Given the description of an element on the screen output the (x, y) to click on. 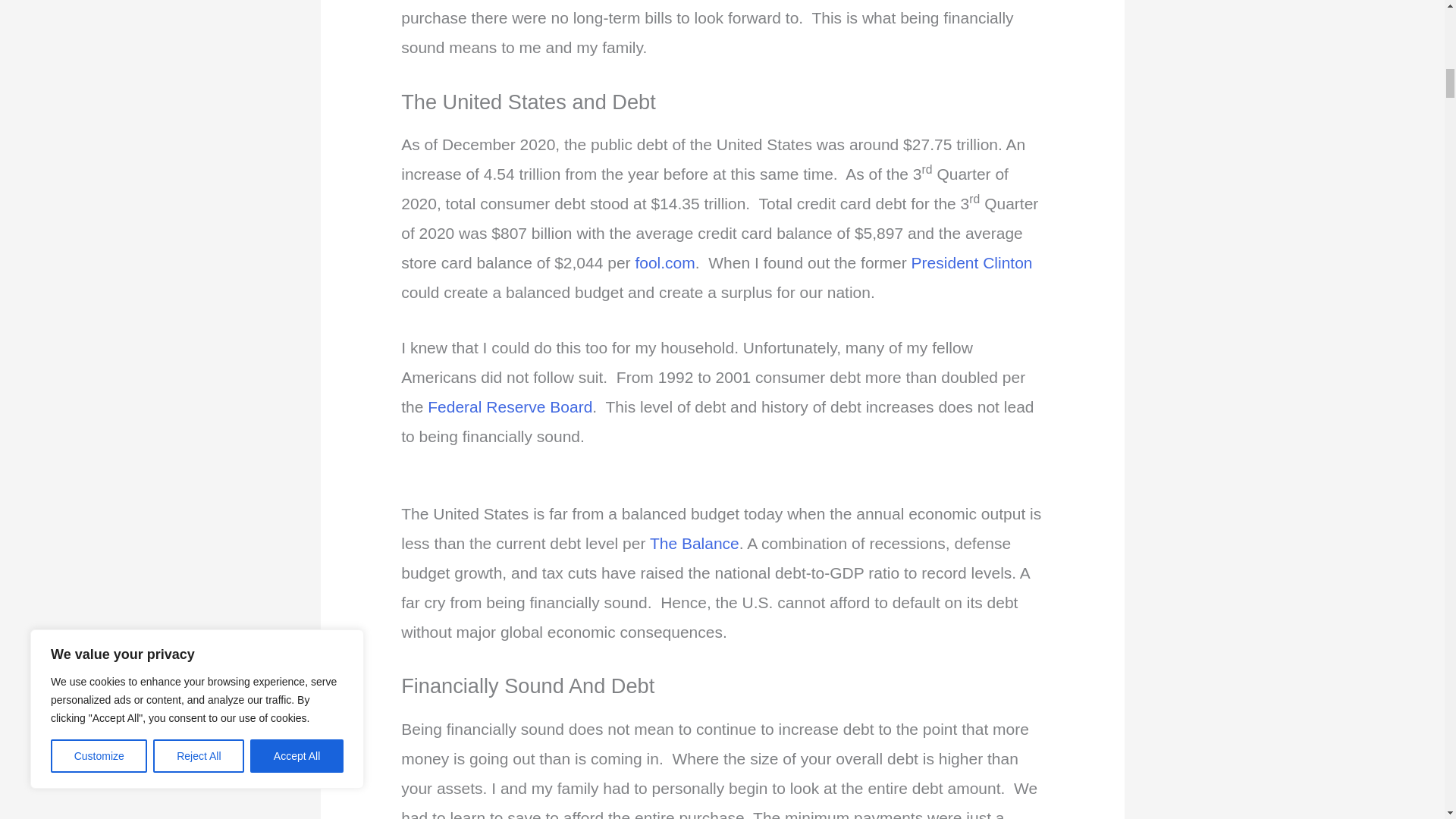
President Clinton (971, 262)
The Balance (694, 543)
fool.com (664, 262)
Federal Reserve Board (510, 406)
